Given the description of an element on the screen output the (x, y) to click on. 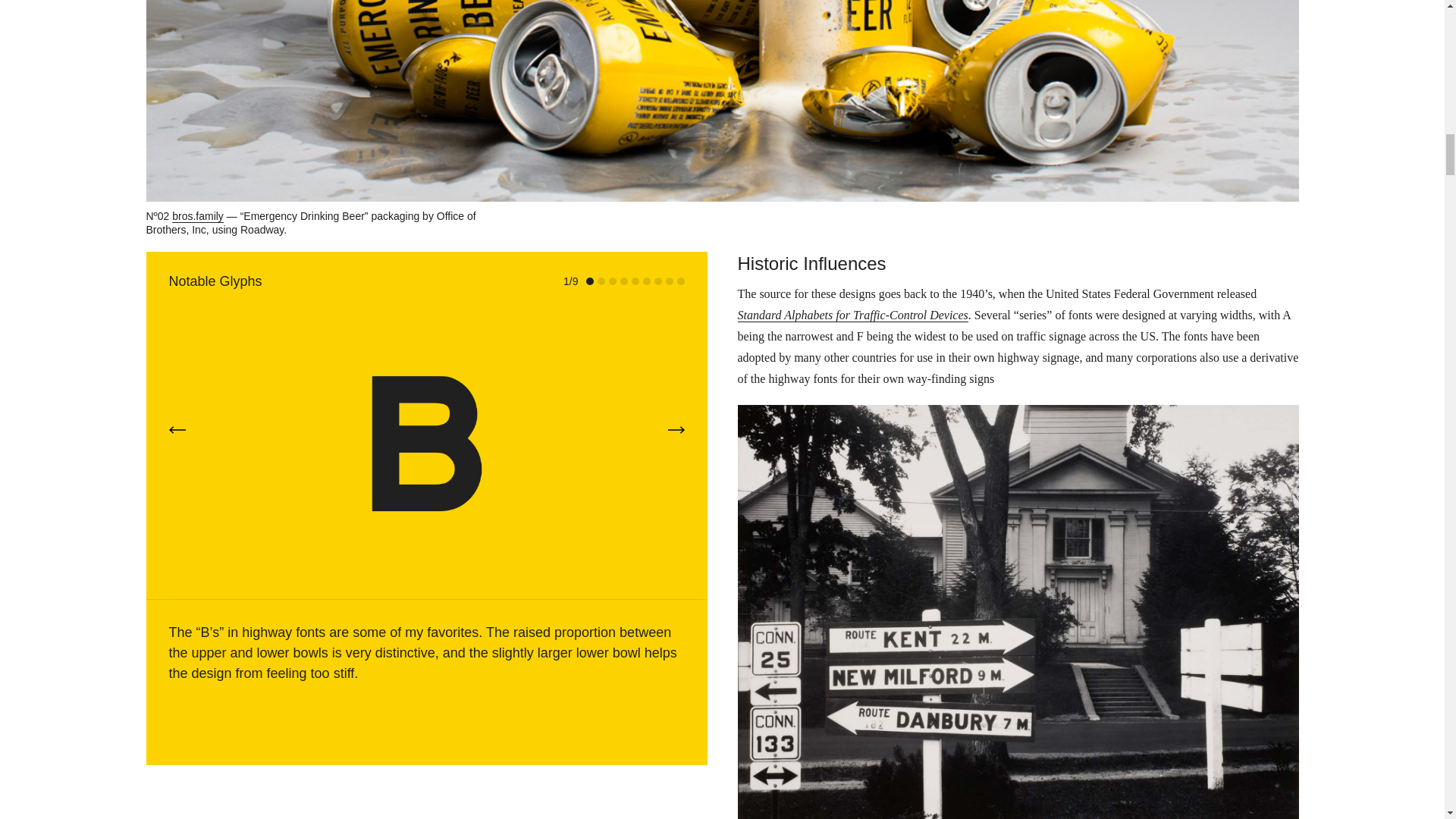
3 (611, 281)
8 (668, 281)
2 (600, 281)
5 (634, 281)
4 (623, 281)
7 (657, 281)
Standard Alphabets for Traffic-Control Devices (852, 315)
bros.family (197, 215)
9 (680, 281)
6 (646, 281)
